Given the description of an element on the screen output the (x, y) to click on. 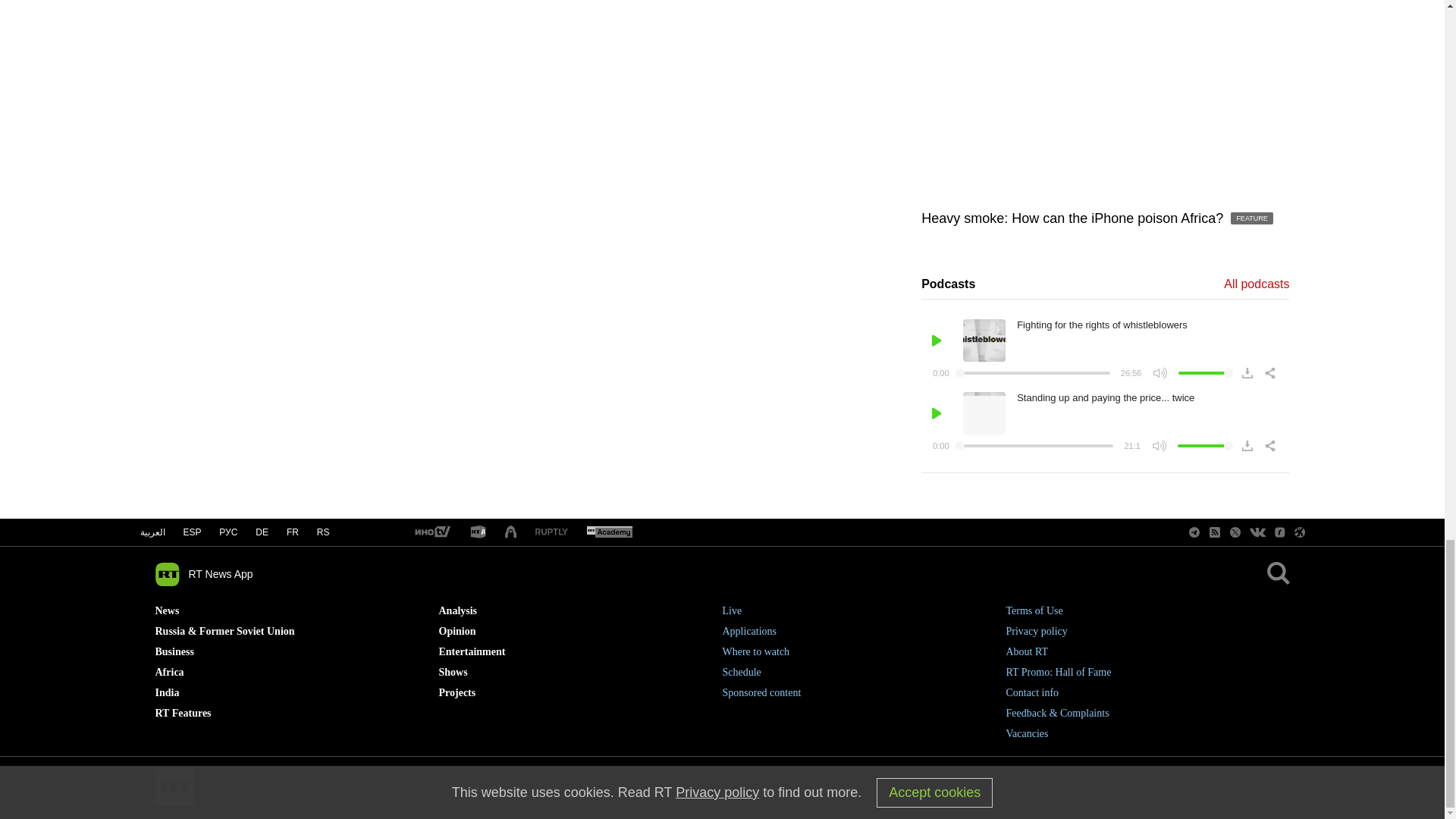
RT  (608, 532)
RT  (551, 532)
RT  (478, 532)
RT  (431, 532)
